Given the description of an element on the screen output the (x, y) to click on. 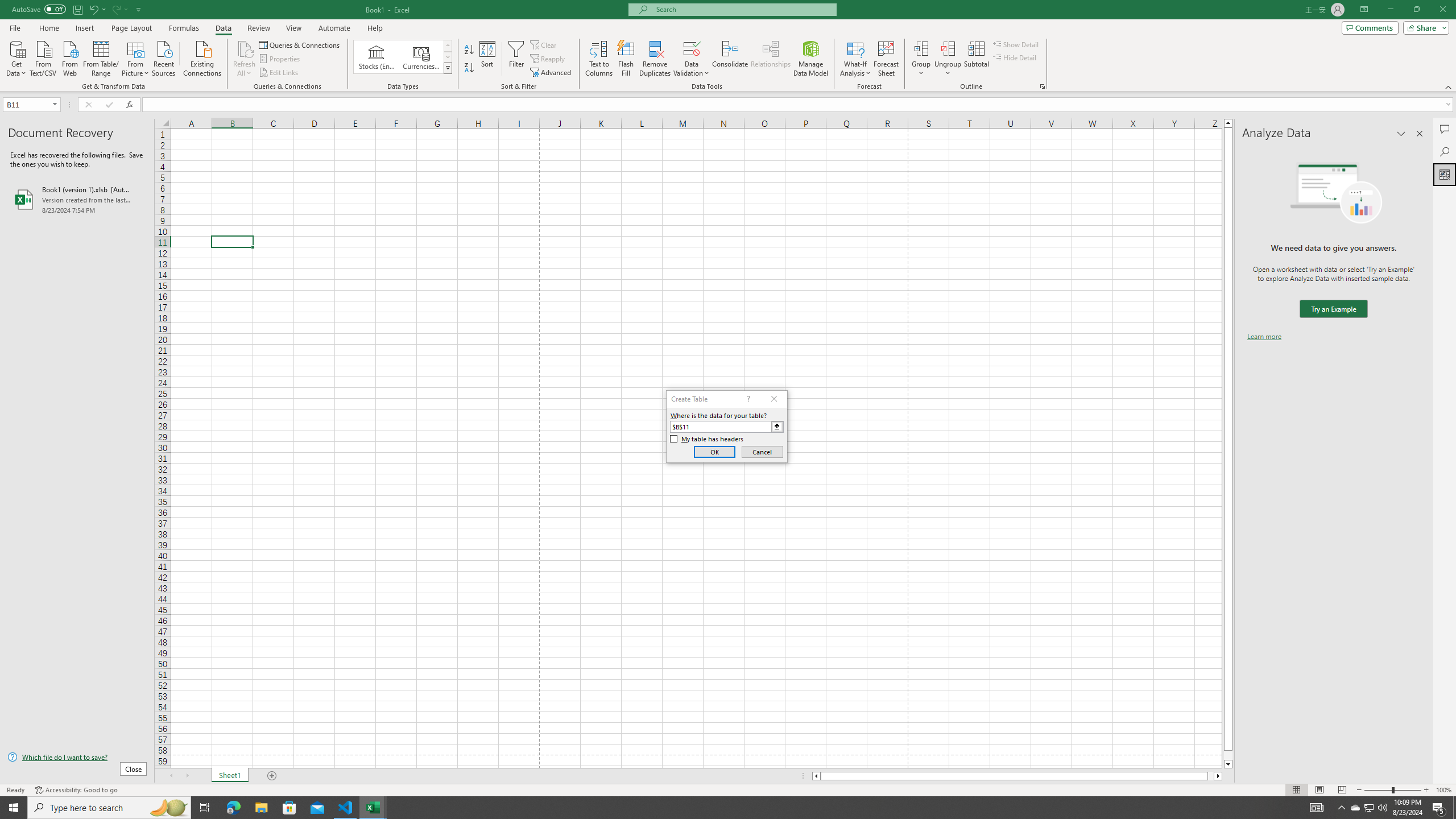
Insert (83, 28)
Help (374, 28)
Collapse the Ribbon (1448, 86)
